Given the description of an element on the screen output the (x, y) to click on. 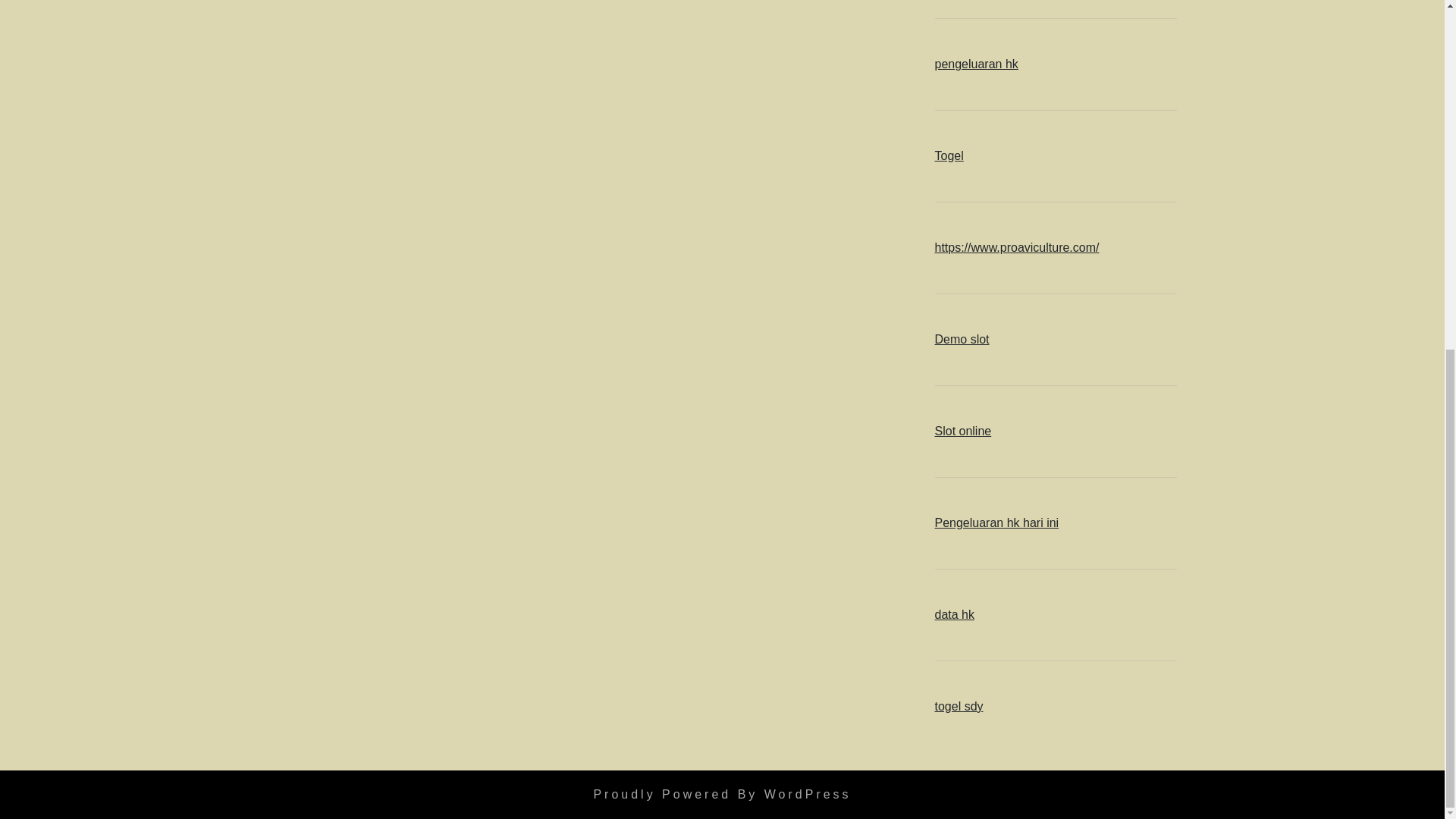
data hk (954, 614)
Slot online (962, 431)
togel sdy (958, 706)
Demo slot (961, 338)
Togel (948, 155)
Pengeluaran hk hari ini (996, 522)
pengeluaran hk (975, 63)
